Given the description of an element on the screen output the (x, y) to click on. 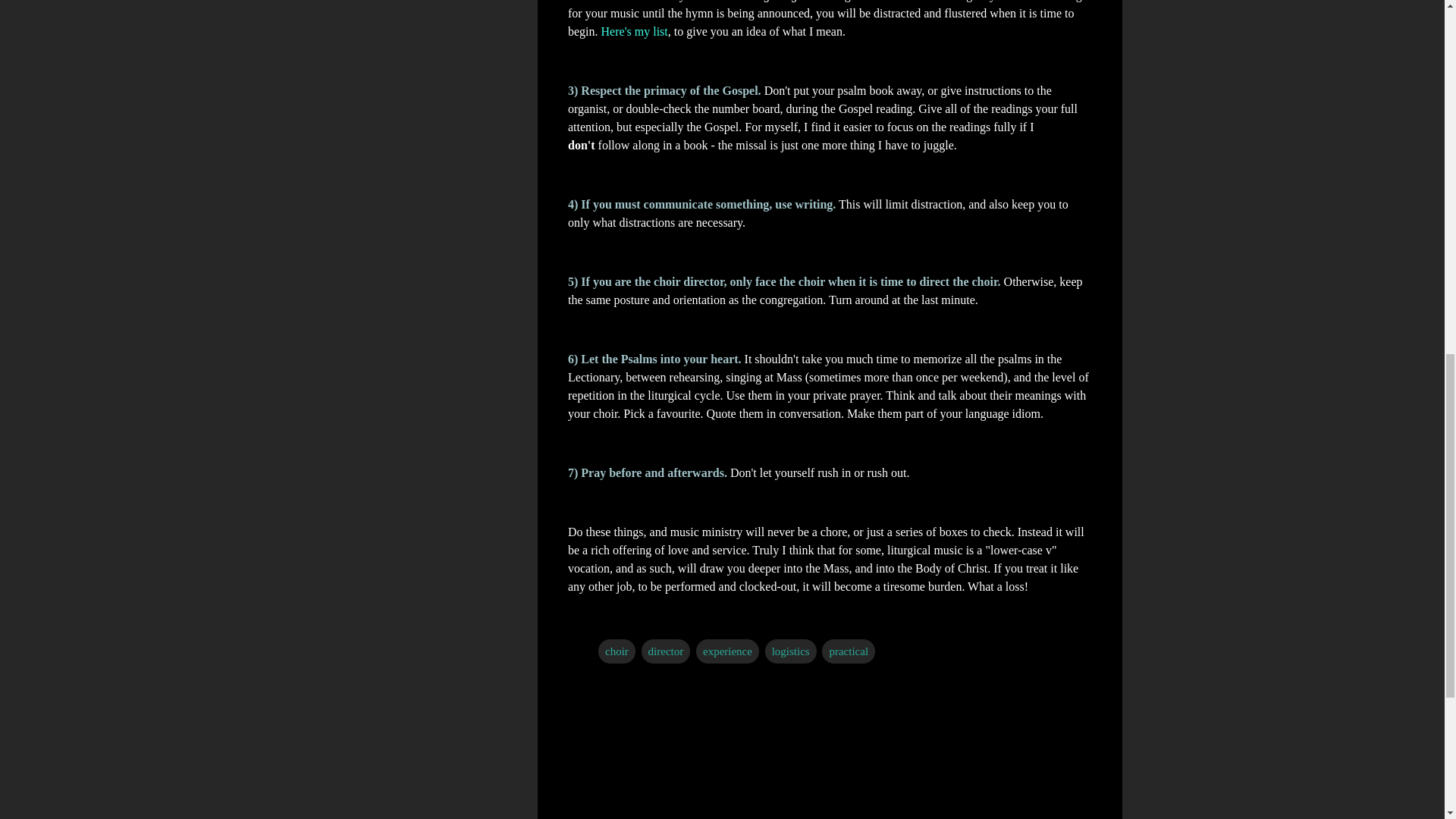
logistics (790, 650)
director (666, 650)
Here's my list (634, 30)
practical (848, 650)
choir (616, 650)
experience (726, 650)
